Given the description of an element on the screen output the (x, y) to click on. 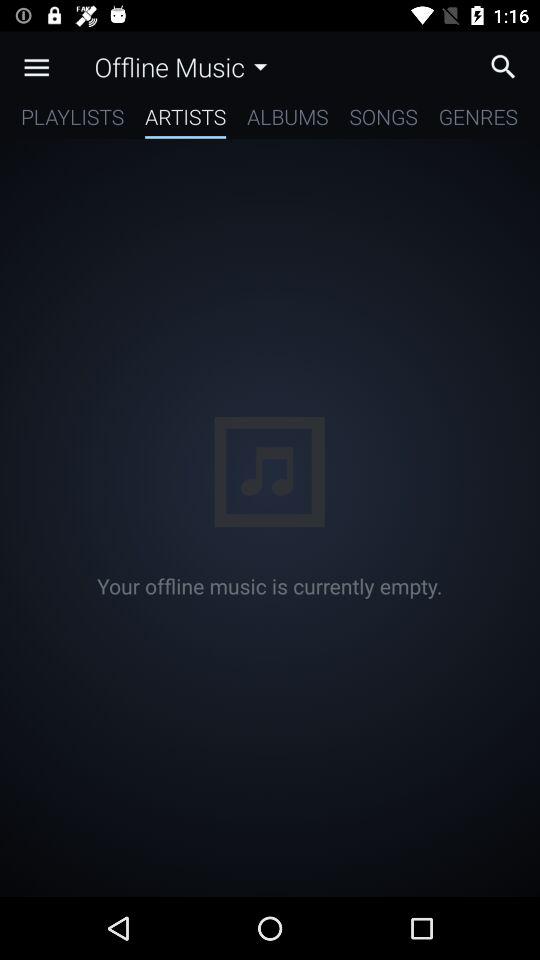
jump to the playlists icon (72, 120)
